Given the description of an element on the screen output the (x, y) to click on. 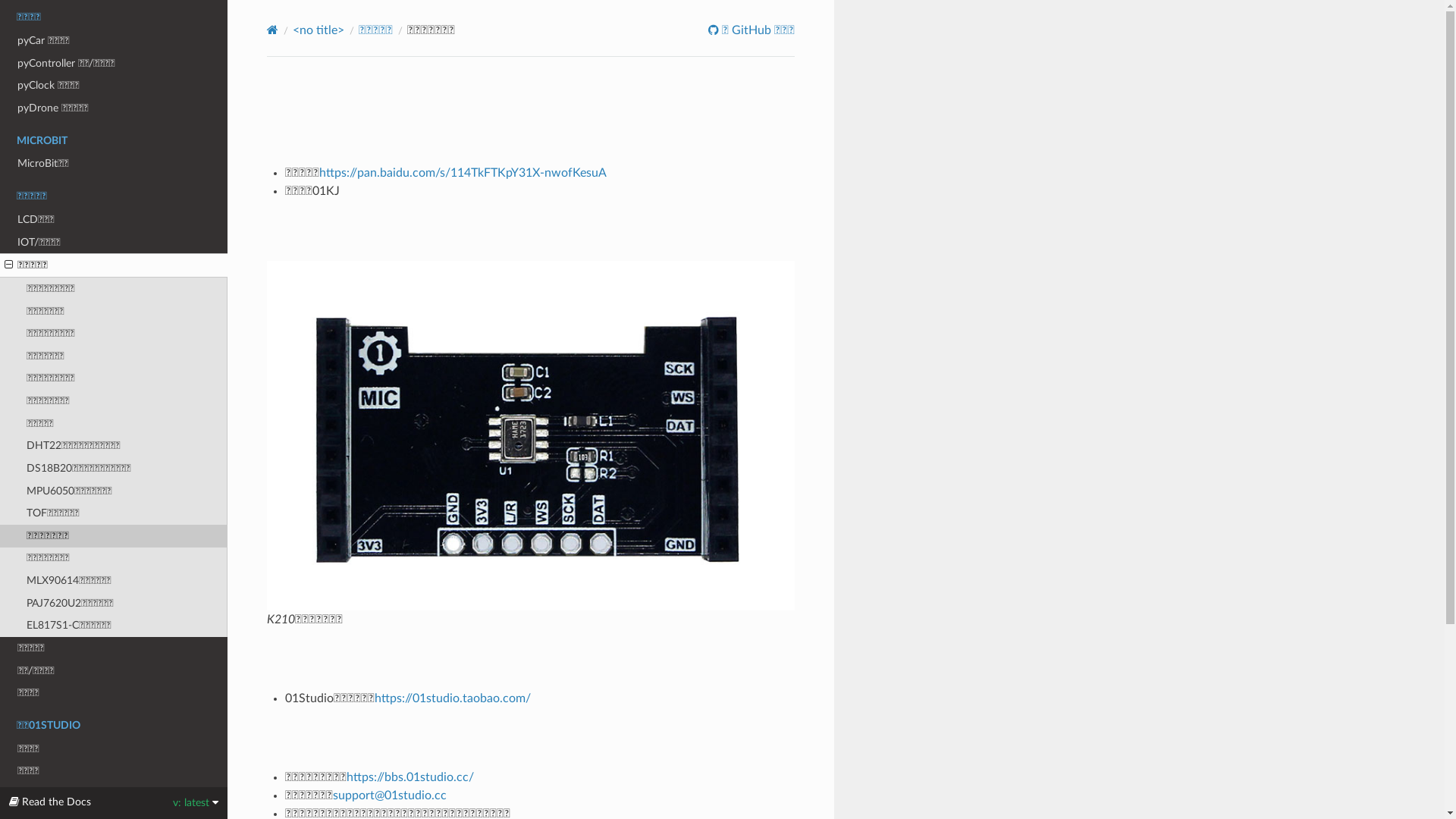
https://pan.baidu.com/s/114TkFTKpY31X-nwofKesuA Element type: text (462, 172)
support@01studio.cc Element type: text (389, 795)
Open/close menu Element type: hover (8, 265)
https://bbs.01studio.cc/ Element type: text (409, 777)
https://01studio.taobao.com/ Element type: text (452, 698)
<no title> Element type: text (318, 30)
